Given the description of an element on the screen output the (x, y) to click on. 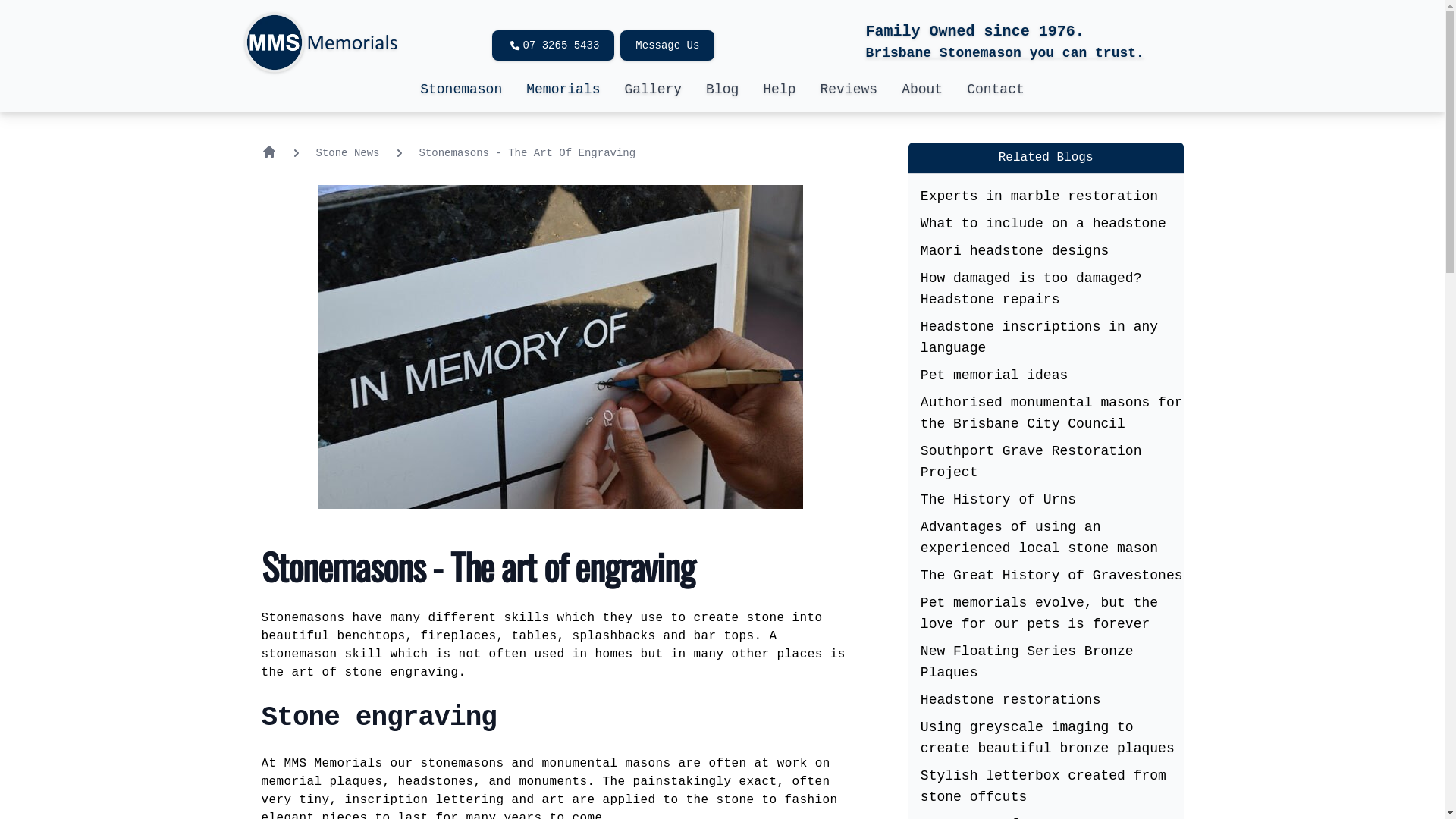
Blog Element type: text (722, 89)
Help Element type: text (778, 89)
Stone News Element type: text (347, 151)
The History of Urns Element type: text (998, 499)
Stonemasons - The Art Of Engraving Element type: text (527, 151)
How damaged is too damaged? Headstone repairs Element type: text (1031, 288)
Pet memorial ideas Element type: text (993, 374)
Maori headstone designs Element type: text (1014, 250)
Stylish letterbox created from stone offcuts Element type: text (1043, 786)
Authorised monumental masons for the Brisbane City Council Element type: text (1051, 413)
Memorials Element type: text (562, 89)
07 3265 5433 Element type: text (553, 45)
Southport Grave Restoration Project Element type: text (1031, 461)
MMS Memorial Home Page Element type: hover (268, 151)
Contact Element type: text (995, 89)
Pet memorials evolve, but the love for our pets is forever Element type: text (1038, 613)
The Great History of Gravestones Element type: text (1051, 575)
Advantages of using an experienced local stone mason Element type: text (1038, 537)
Message Us Element type: text (667, 45)
Experts in marble restoration Element type: text (1038, 195)
About Element type: text (921, 89)
MMS Memorials Element type: text (337, 763)
stonemason Element type: text (302, 654)
Stonemason Element type: text (461, 89)
Headstone inscriptions in any language Element type: text (1038, 337)
What to include on a headstone Element type: text (1043, 223)
Reviews Element type: text (849, 89)
Headstone restorations Element type: text (1010, 699)
New Floating Series Bronze Plaques Element type: text (1026, 661)
Gallery Element type: text (652, 89)
Using greyscale imaging to create beautiful bronze plaques Element type: text (1047, 737)
